Given the description of an element on the screen output the (x, y) to click on. 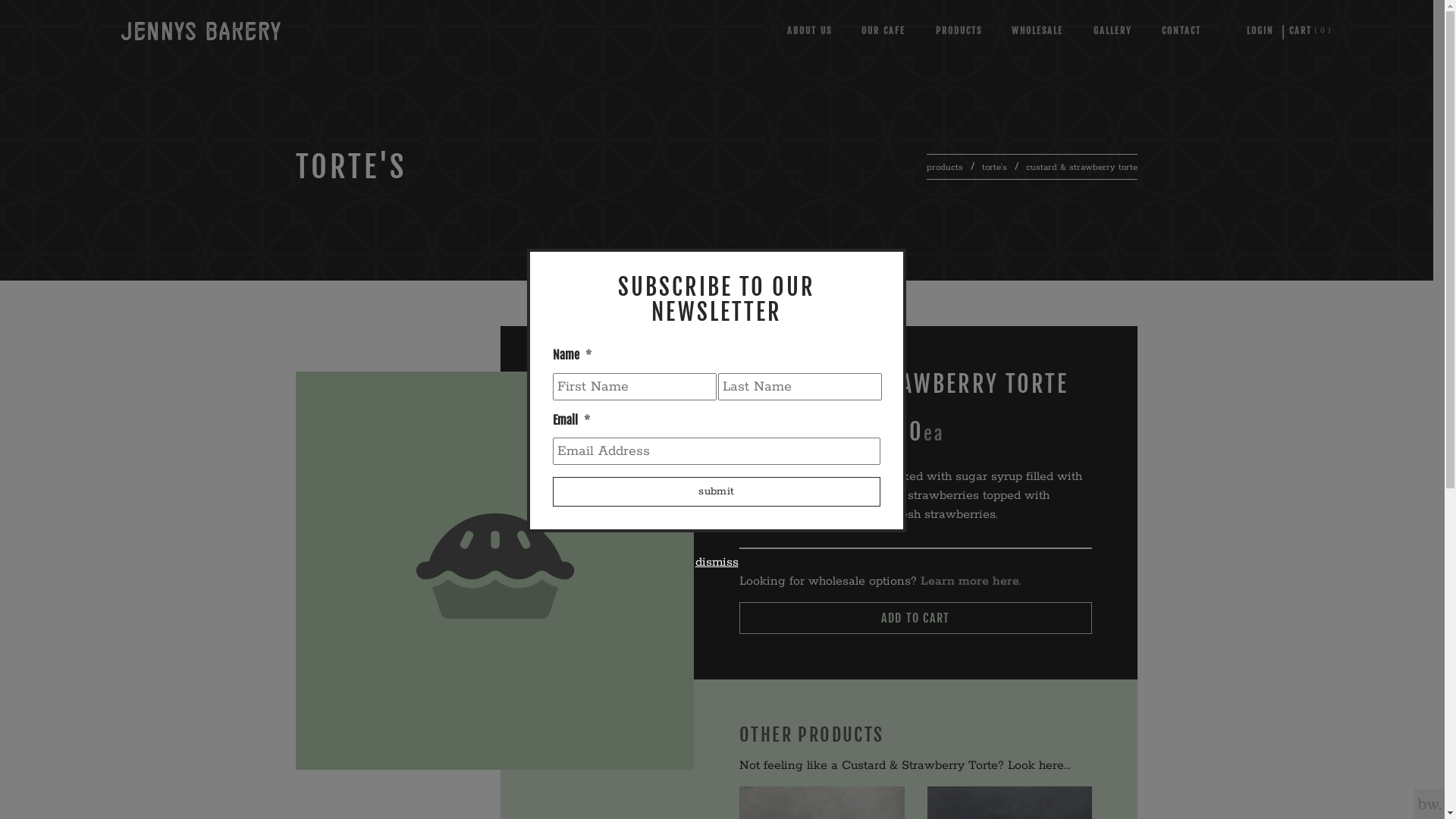
products Element type: text (944, 166)
CONTACT Element type: text (1181, 30)
OUR CAFE Element type: text (883, 30)
ADD TO CART Element type: text (915, 617)
0 Element type: text (1300, 30)
dismiss Element type: text (715, 562)
LOGIN Element type: text (1260, 30)
ABOUT US Element type: text (809, 30)
Submit Element type: text (716, 491)
custard & strawberry torte Element type: text (1081, 166)
Learn more here Element type: text (969, 581)
WHOLESALE Element type: text (1037, 30)
Jennys Bakery - Home Element type: hover (200, 30)
GALLERY Element type: text (1112, 30)
PRODUCTS Element type: text (958, 30)
torte's Element type: text (994, 166)
